Given the description of an element on the screen output the (x, y) to click on. 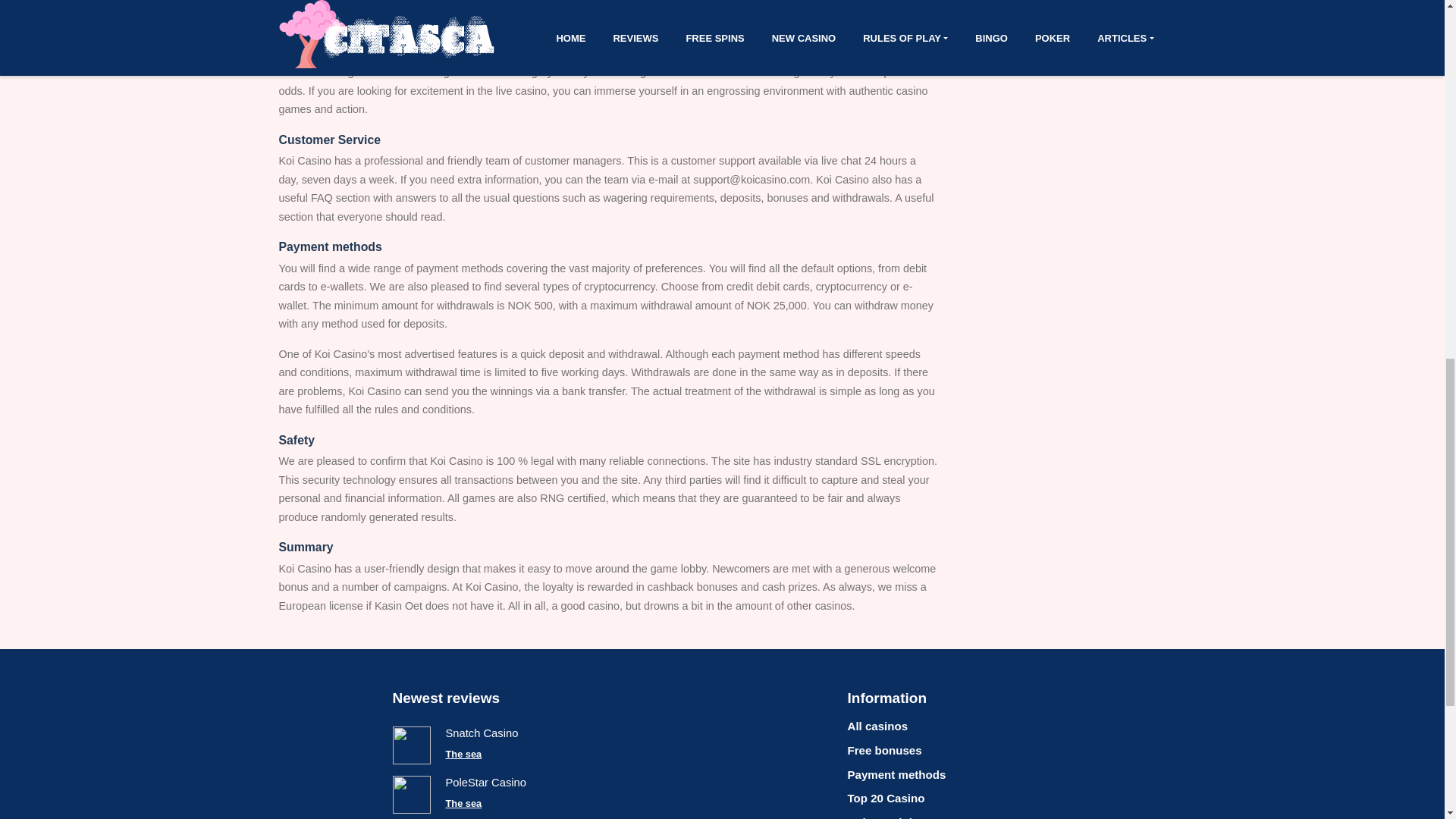
The sea (463, 754)
